Given the description of an element on the screen output the (x, y) to click on. 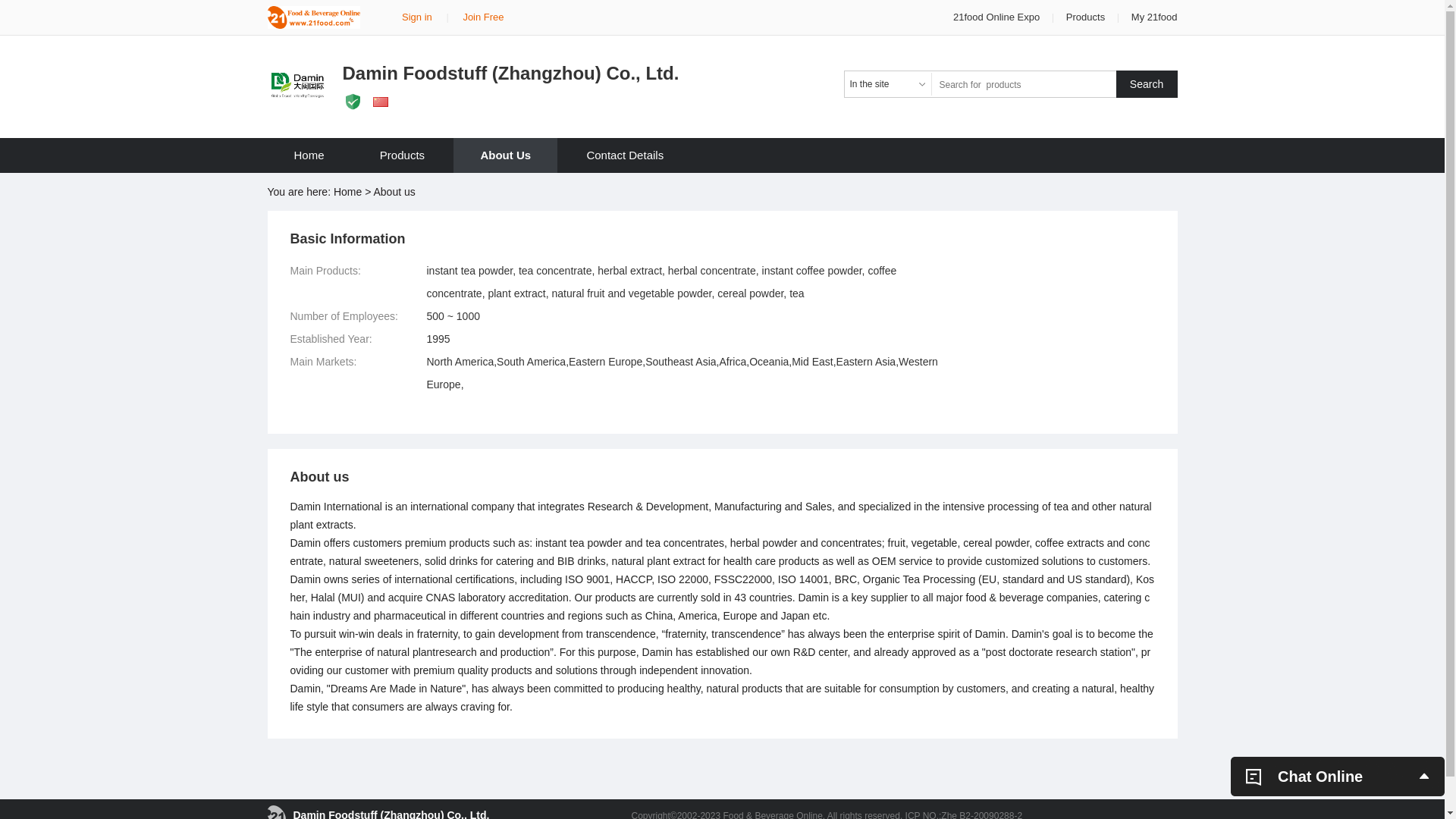
Join Free Element type: text (482, 16)
Home Element type: text (308, 155)
Products Element type: text (1085, 16)
Products Element type: text (402, 155)
Contact Details Element type: text (624, 155)
21food Online Expo Element type: text (997, 16)
Home Element type: text (347, 191)
About Us Element type: text (505, 155)
Search Element type: text (1146, 83)
Sign in Element type: text (416, 16)
My 21food Element type: text (1154, 16)
